Given the description of an element on the screen output the (x, y) to click on. 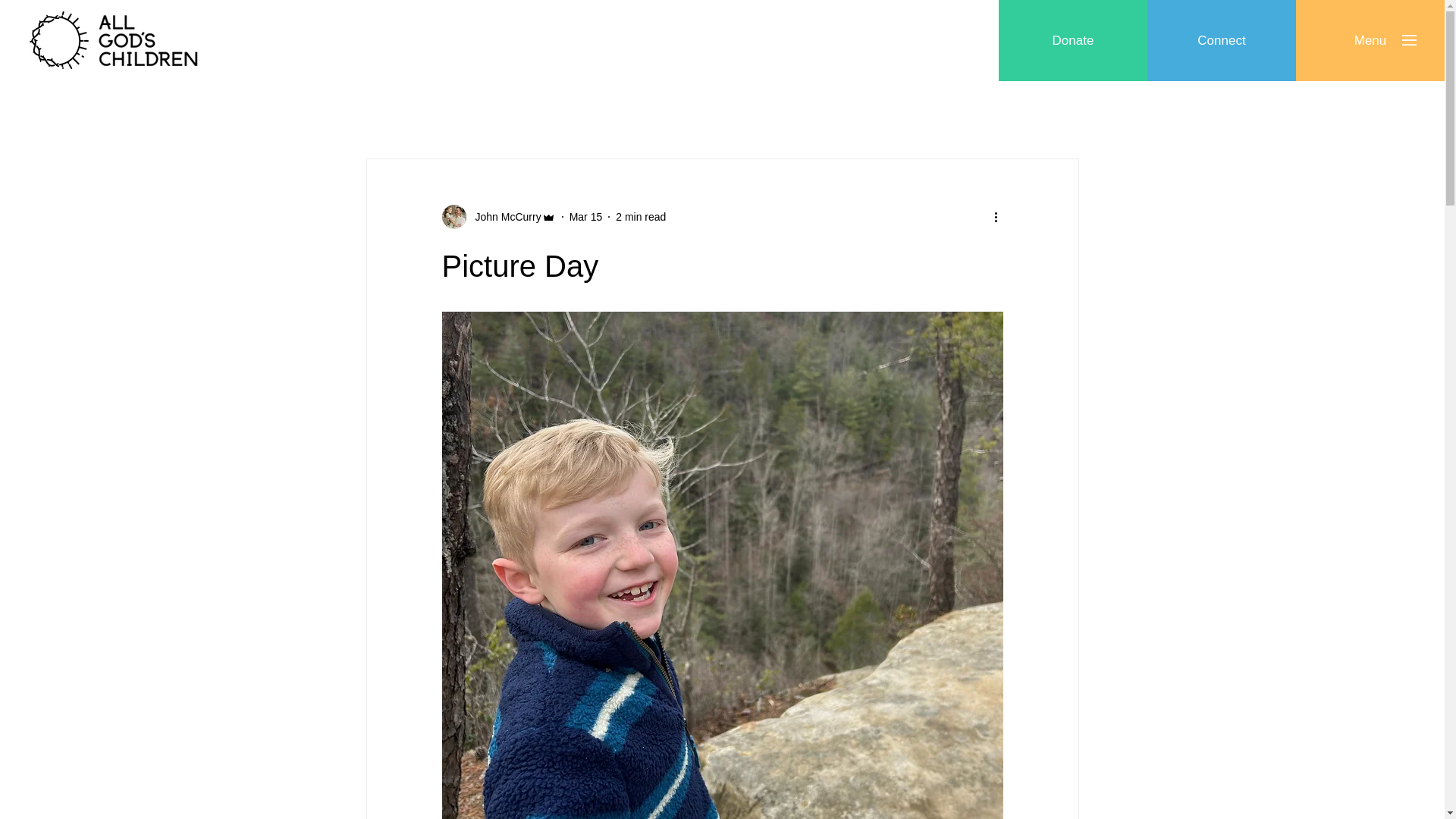
Connect (1221, 40)
Mar 15 (585, 216)
CRUN - Medium, Transparent.png (58, 39)
John McCurry (497, 216)
Donate (1072, 40)
2 min read (640, 216)
John McCurry (502, 217)
